Given the description of an element on the screen output the (x, y) to click on. 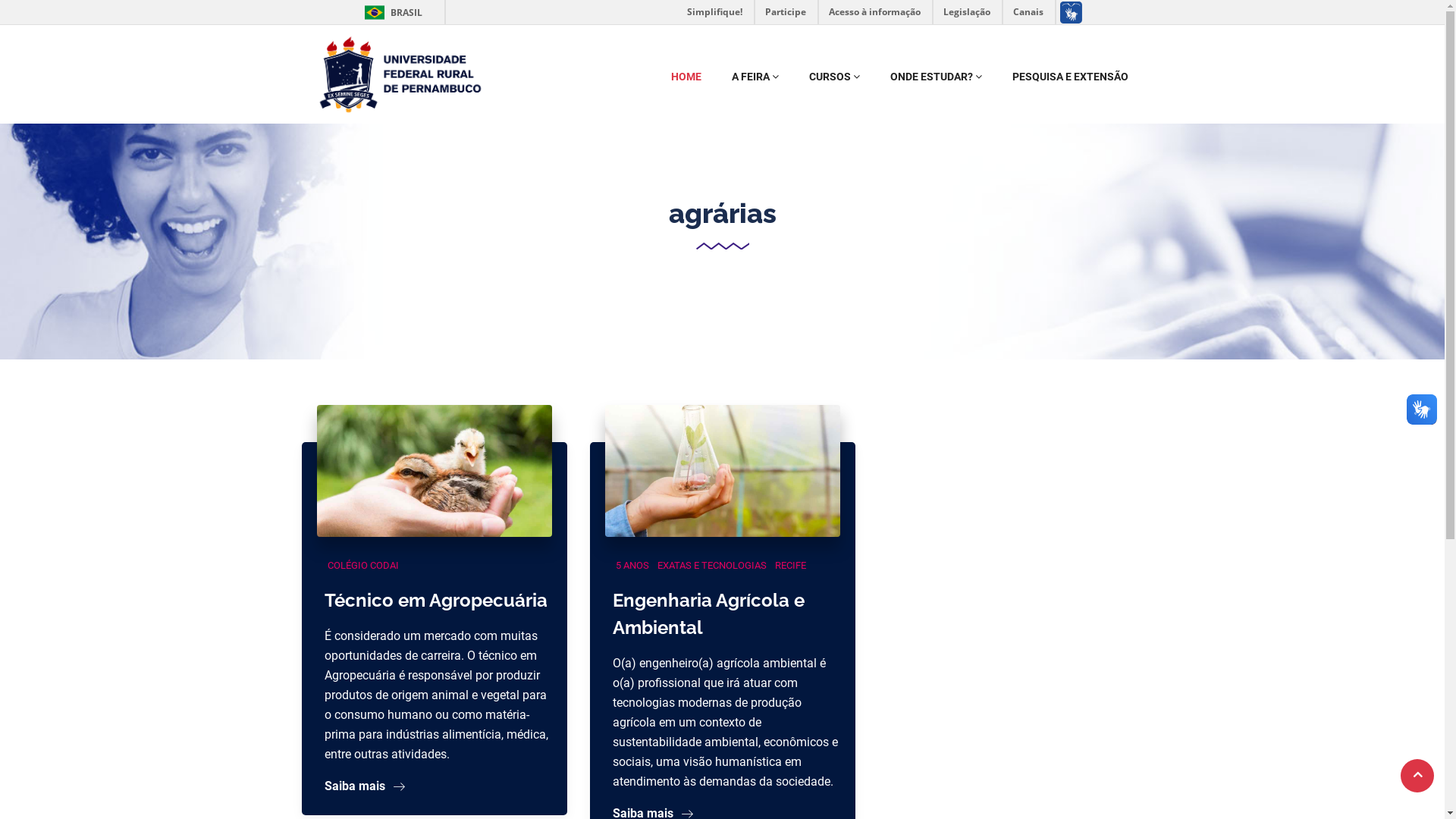
CURSOS Element type: text (833, 76)
HOME Element type: text (685, 76)
ONDE ESTUDAR? Element type: text (936, 76)
RECIFE Element type: text (790, 565)
EXATAS E TECNOLOGIAS Element type: text (710, 565)
5 ANOS Element type: text (632, 565)
BRASIL Element type: text (373, 12)
Saiba mais Element type: text (364, 785)
A FEIRA Element type: text (754, 76)
